Given the description of an element on the screen output the (x, y) to click on. 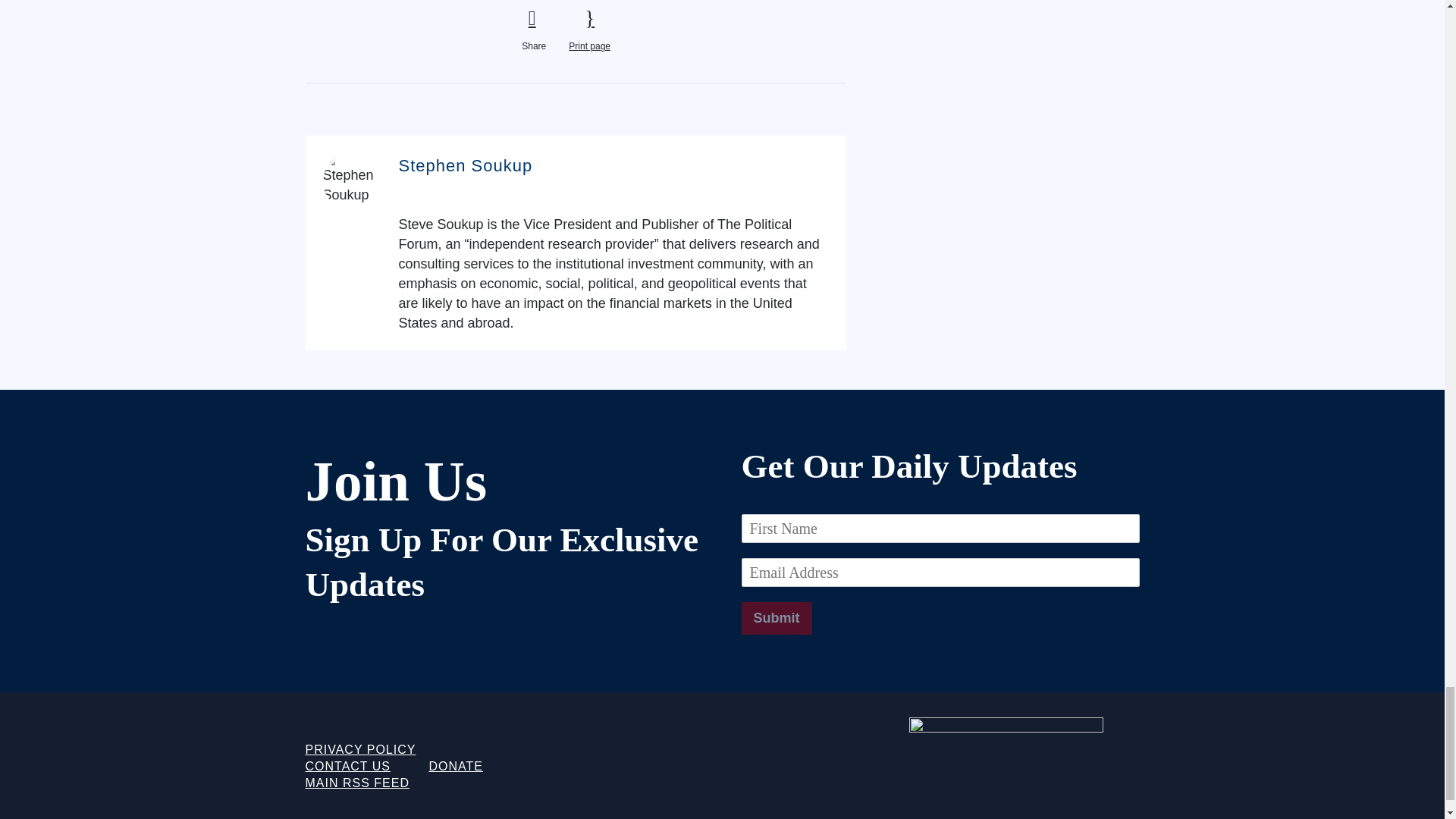
Print page (589, 29)
